Given the description of an element on the screen output the (x, y) to click on. 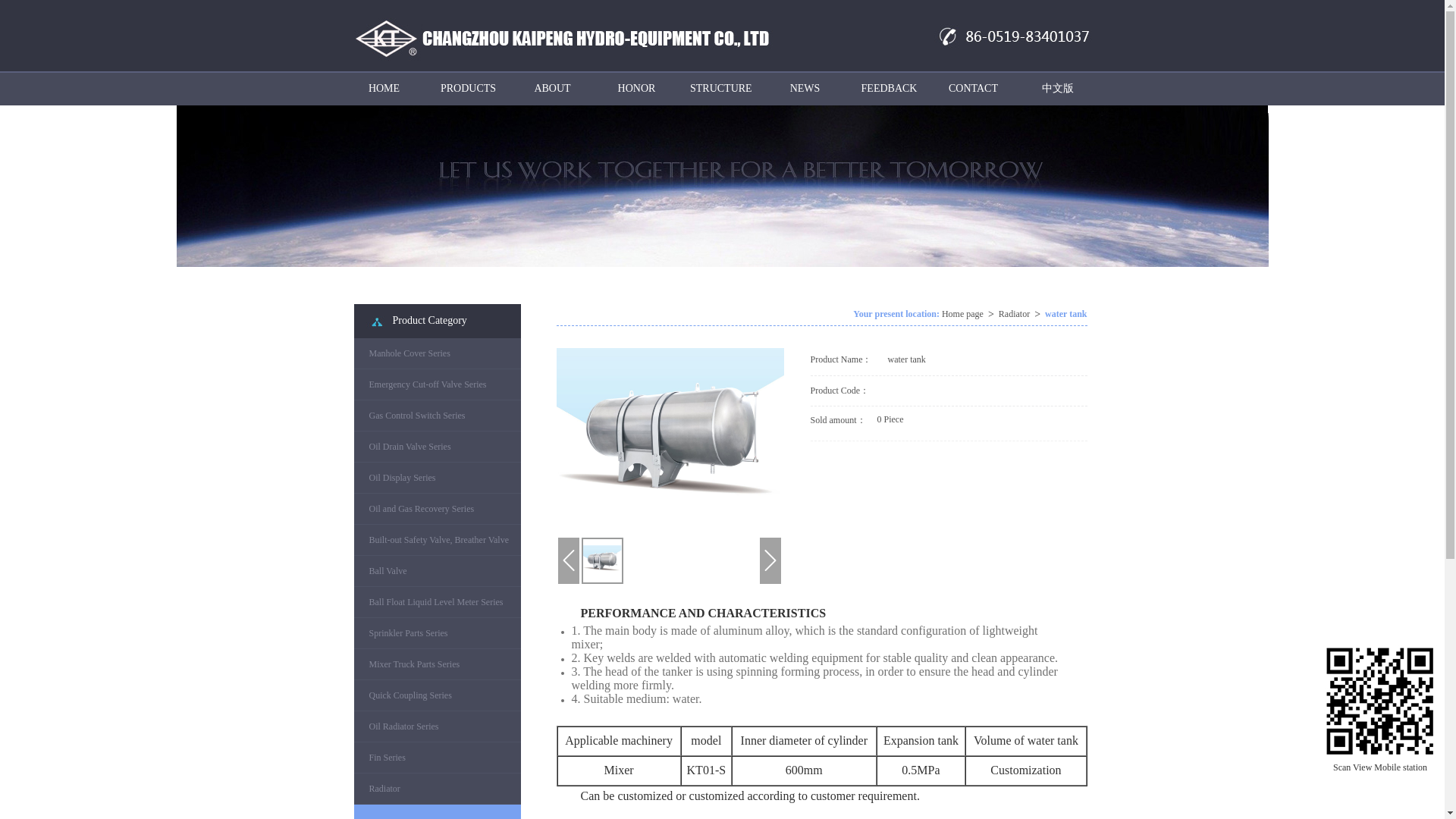
Kaipeng (569, 35)
Manhole Cover Series (436, 353)
HOME (383, 88)
HONOR (636, 88)
Kaipeng (1380, 701)
Emergency Cut-off Valve Series (436, 383)
Home page (963, 313)
CONTACT (973, 88)
STRUCTURE (720, 88)
ABOUT (551, 88)
Gas Control Switch Series (436, 415)
Oil Drain Valve Series (436, 445)
NEWS (804, 88)
PRODUCTS (467, 88)
Radiator (1013, 313)
